Given the description of an element on the screen output the (x, y) to click on. 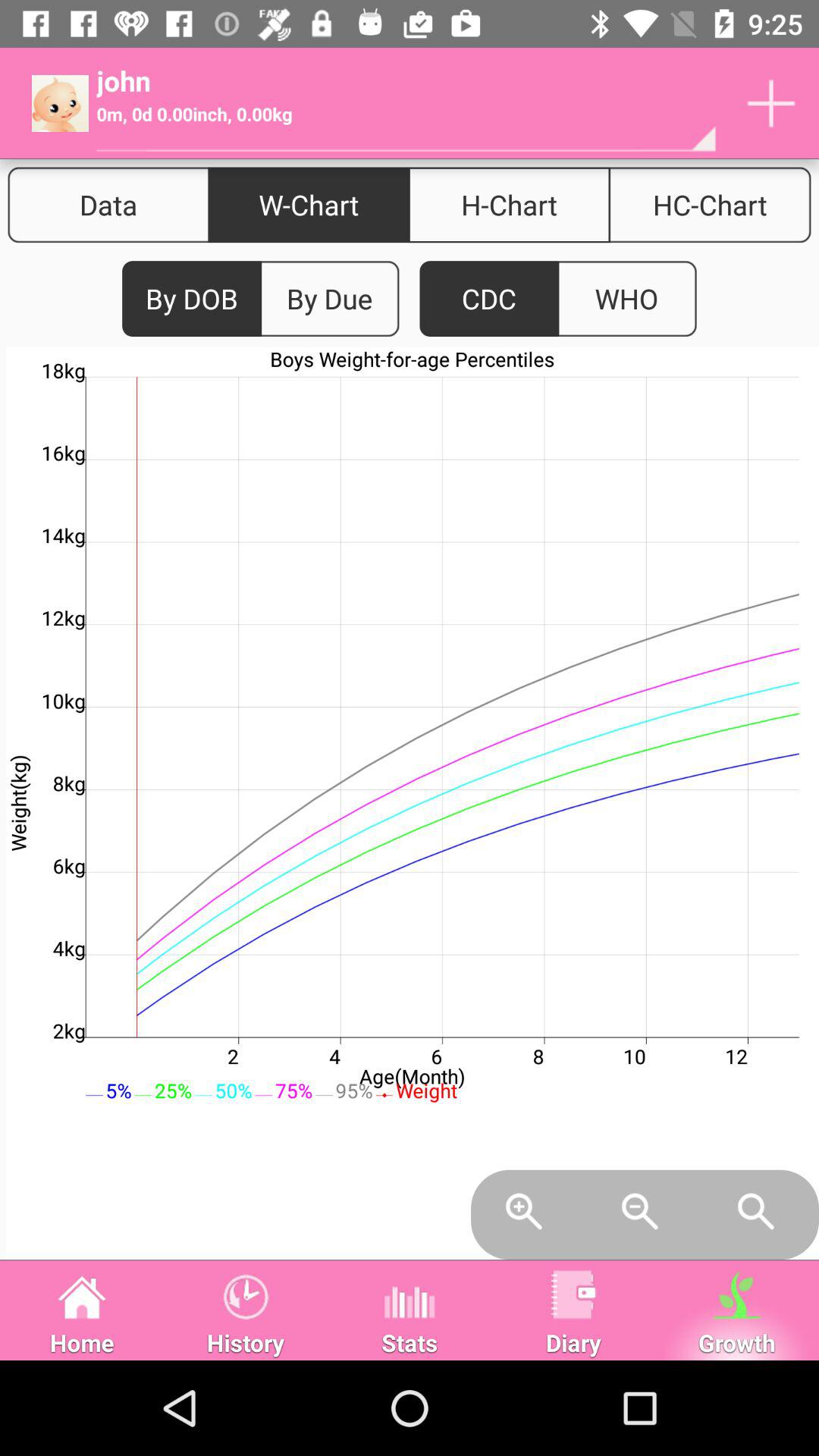
open the icon next to w-chart (108, 204)
